Given the description of an element on the screen output the (x, y) to click on. 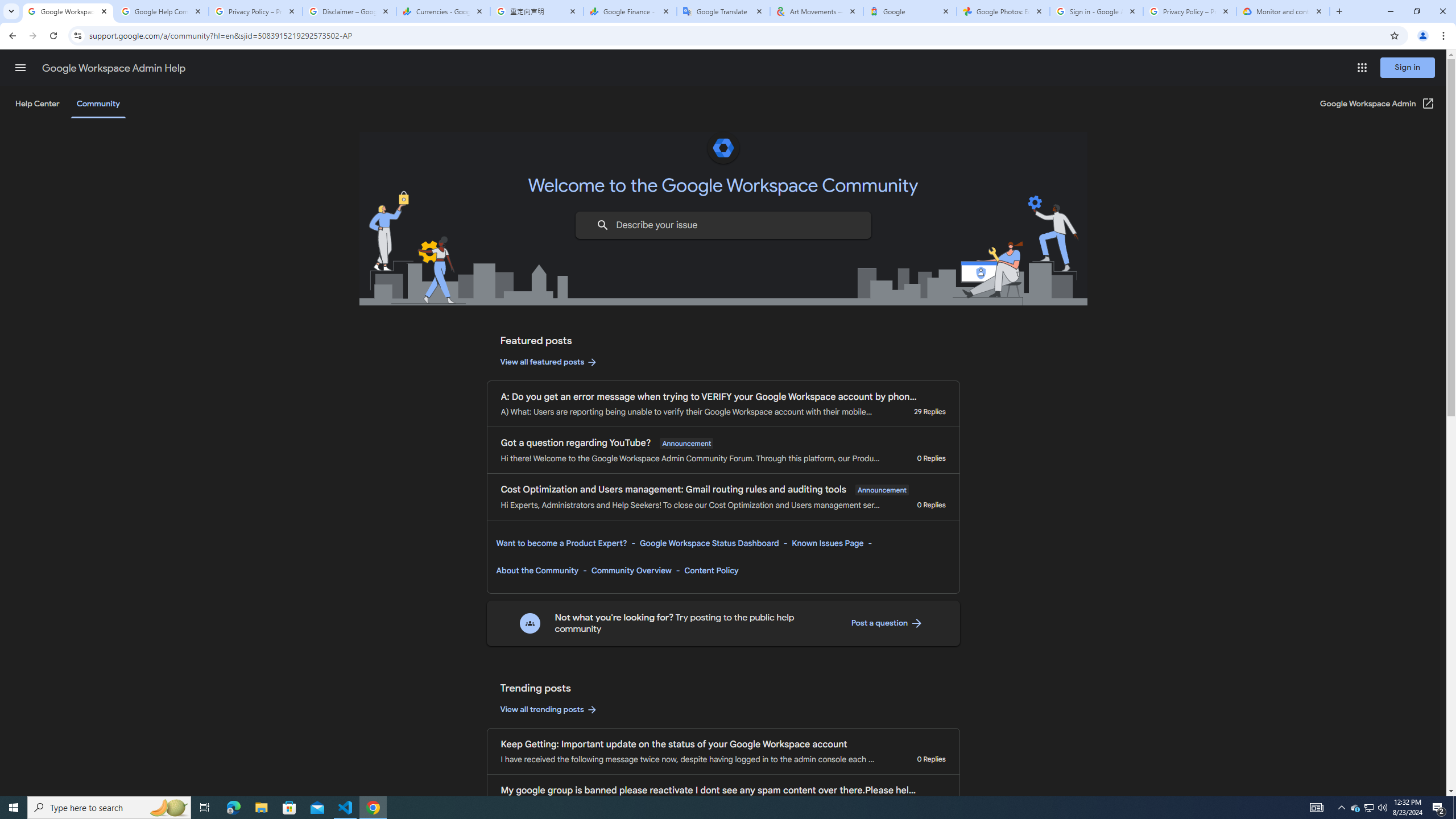
Export (59, 536)
Shared with Me (288, 145)
Folders (560, 127)
Documents (492, 127)
New (59, 118)
Add a Place (288, 285)
Options (59, 753)
Recover Unsaved Documents (530, 753)
Recent (288, 104)
